Given the description of an element on the screen output the (x, y) to click on. 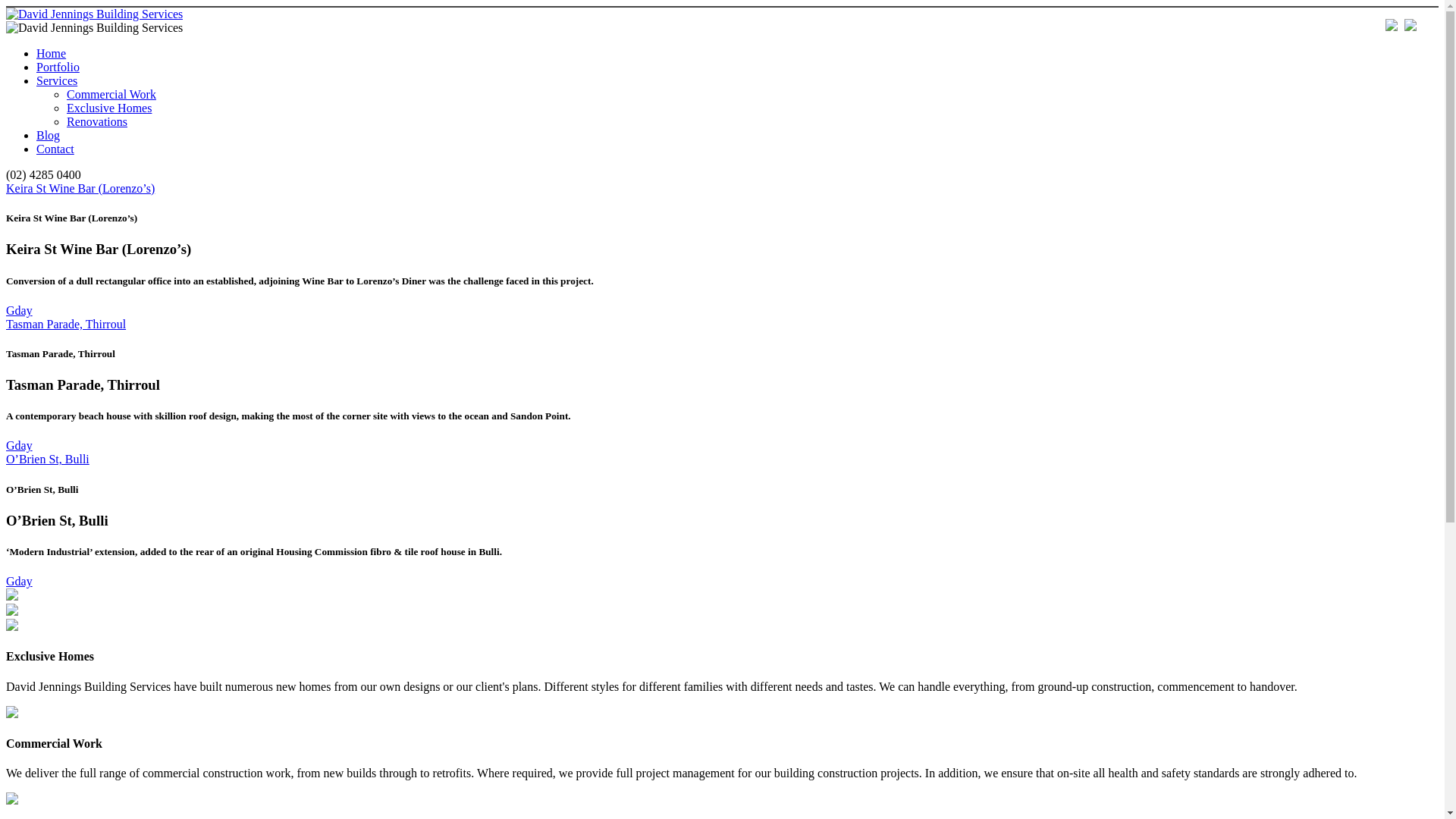
Tasman Parade, Thirroul Element type: text (65, 323)
Gday Element type: text (19, 445)
Services Element type: text (56, 80)
Commercial Work Element type: text (111, 93)
Home Element type: text (50, 53)
Exclusive Homes Element type: text (108, 107)
Contact Element type: text (55, 148)
Portfolio Element type: text (57, 66)
Blog Element type: text (47, 134)
Renovations Element type: text (96, 121)
Gday Element type: text (19, 580)
Gday Element type: text (19, 310)
